Given the description of an element on the screen output the (x, y) to click on. 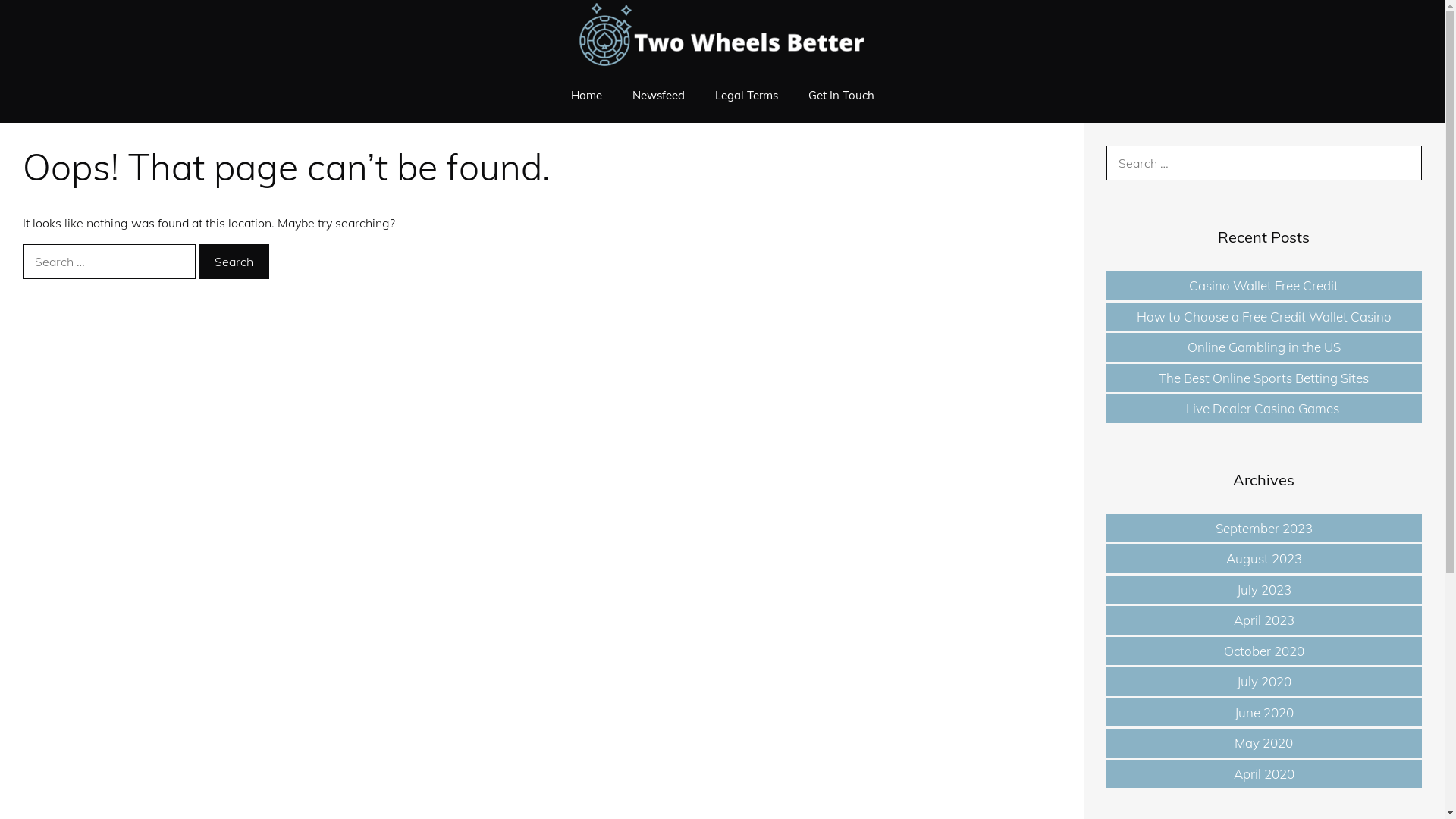
Online Gambling in the US Element type: text (1263, 346)
Two Wheels Better Element type: hover (721, 32)
Casino Wallet Free Credit Element type: text (1263, 285)
October 2020 Element type: text (1263, 650)
Live Dealer Casino Games  Element type: text (1264, 408)
Search Element type: text (35, 17)
Skip to content Element type: text (0, 0)
Newsfeed Element type: text (658, 95)
Home Element type: text (585, 95)
Get In Touch Element type: text (841, 95)
May 2020 Element type: text (1263, 742)
July 2023 Element type: text (1263, 588)
How to Choose a Free Credit Wallet Casino Element type: text (1263, 315)
August 2023 Element type: text (1264, 558)
Legal Terms Element type: text (745, 95)
Two Wheels Better Element type: hover (721, 34)
Search Element type: text (233, 261)
September 2023 Element type: text (1263, 528)
July 2020 Element type: text (1263, 681)
Search for: Element type: hover (108, 261)
Search for: Element type: hover (1263, 162)
June 2020 Element type: text (1263, 711)
April 2020 Element type: text (1263, 773)
The Best Online Sports Betting Sites Element type: text (1263, 377)
April 2023 Element type: text (1263, 619)
